Given the description of an element on the screen output the (x, y) to click on. 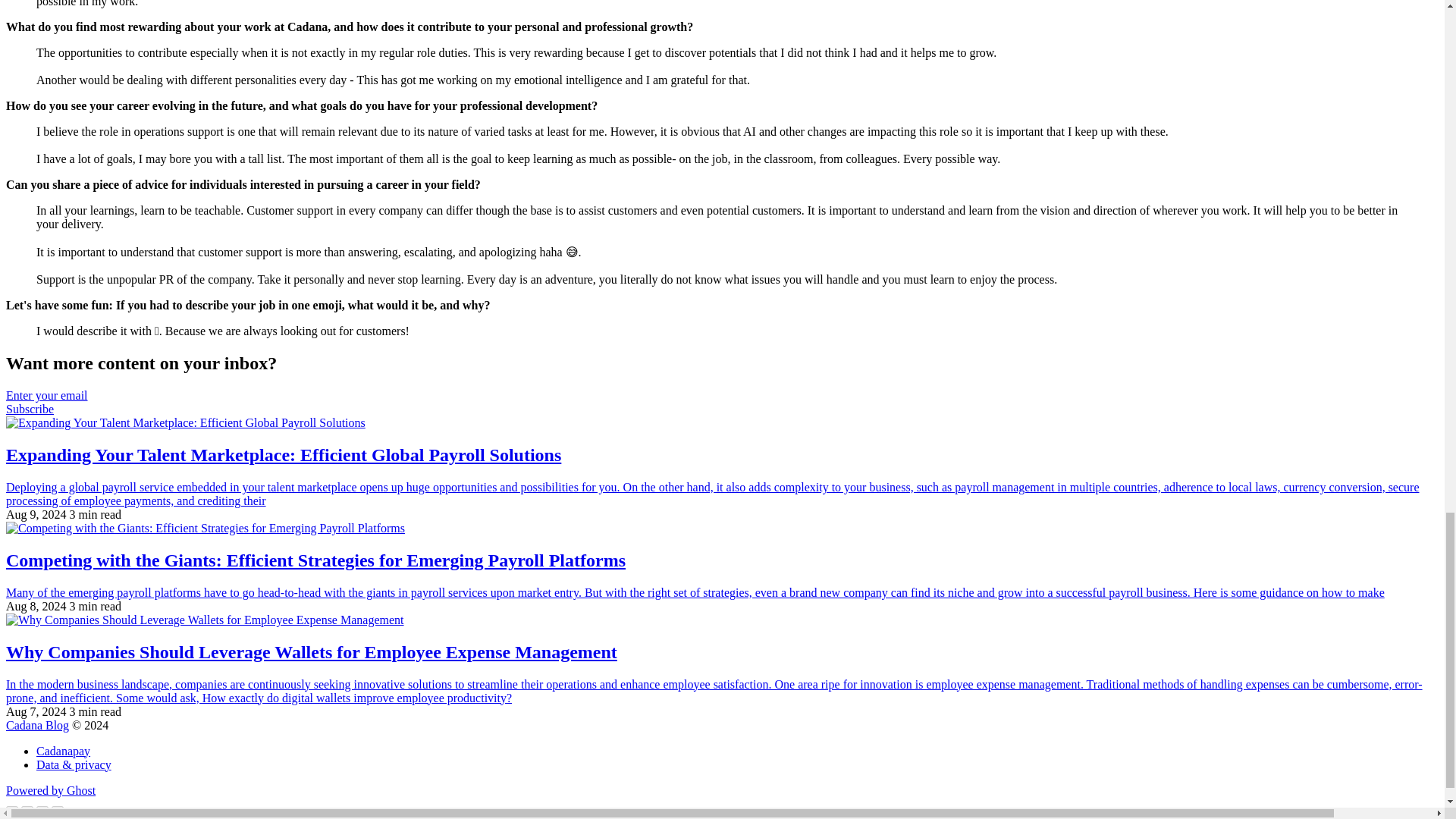
Powered by Ghost (50, 789)
Cadana Blog (36, 725)
Share (27, 807)
Cadanapay (63, 750)
Toggle fullscreen (721, 402)
